Given the description of an element on the screen output the (x, y) to click on. 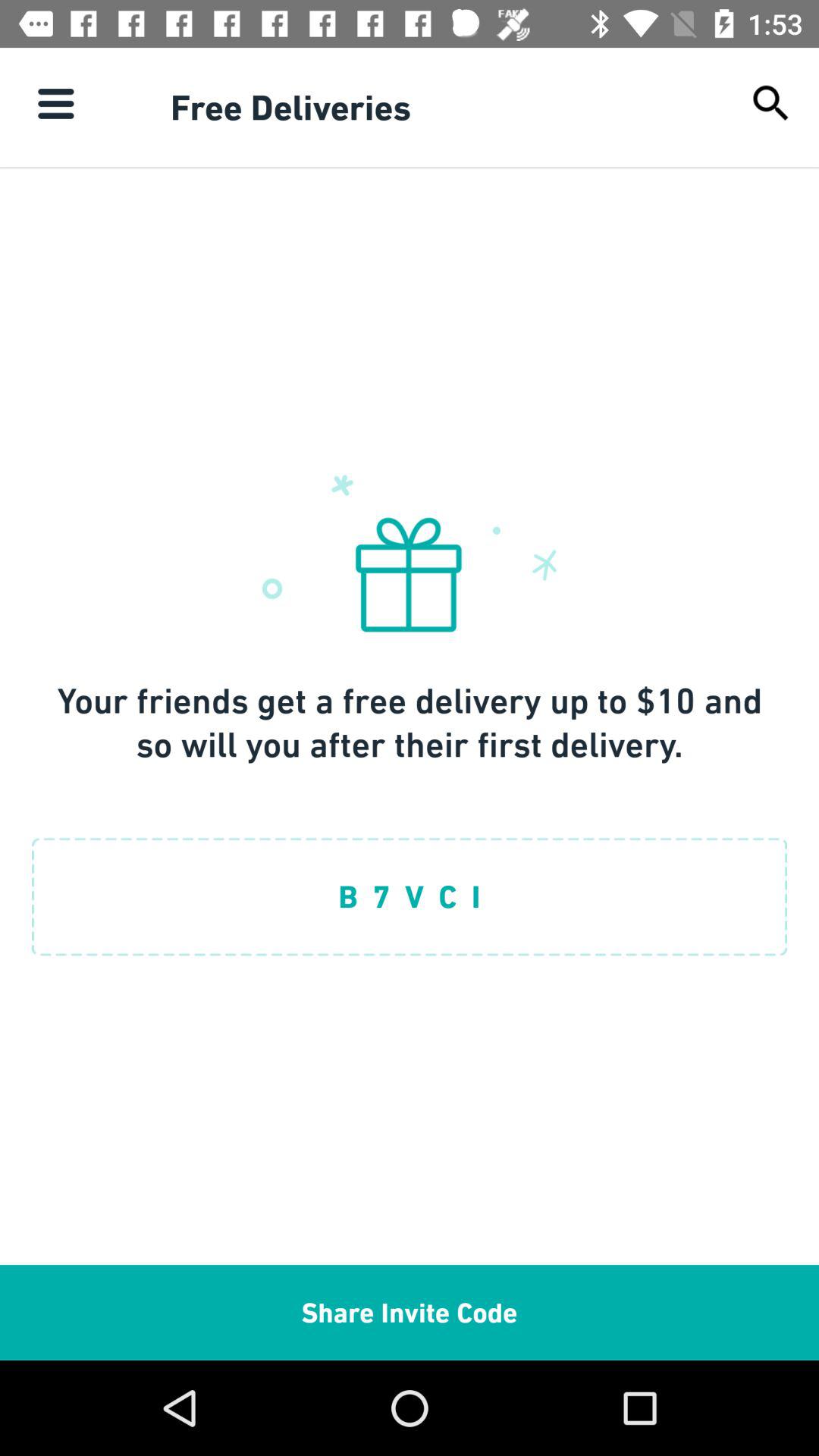
jump to share invite code icon (409, 1312)
